Given the description of an element on the screen output the (x, y) to click on. 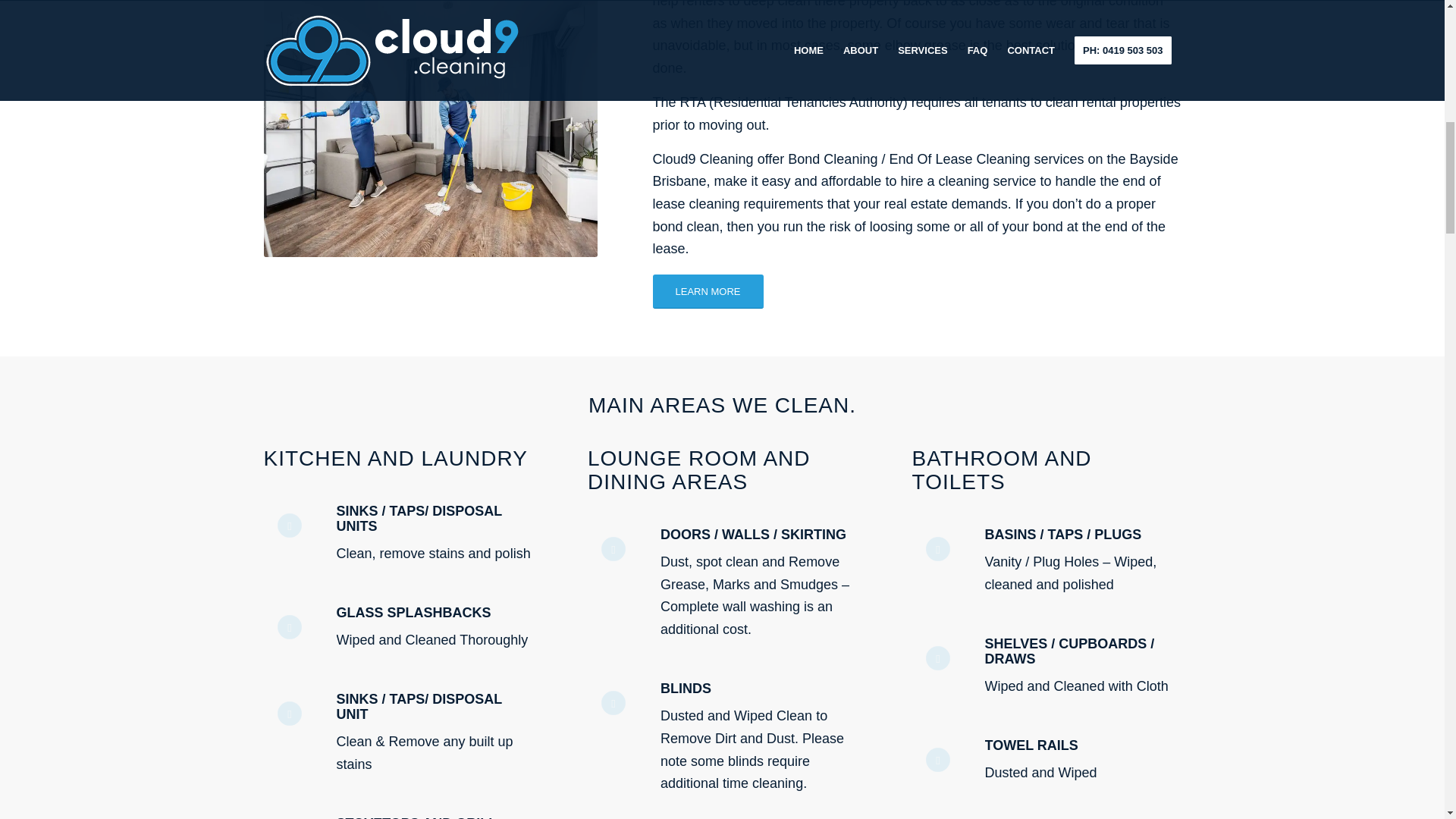
LEARN MORE (707, 291)
bond-cleaning-ipswich (429, 128)
